Given the description of an element on the screen output the (x, y) to click on. 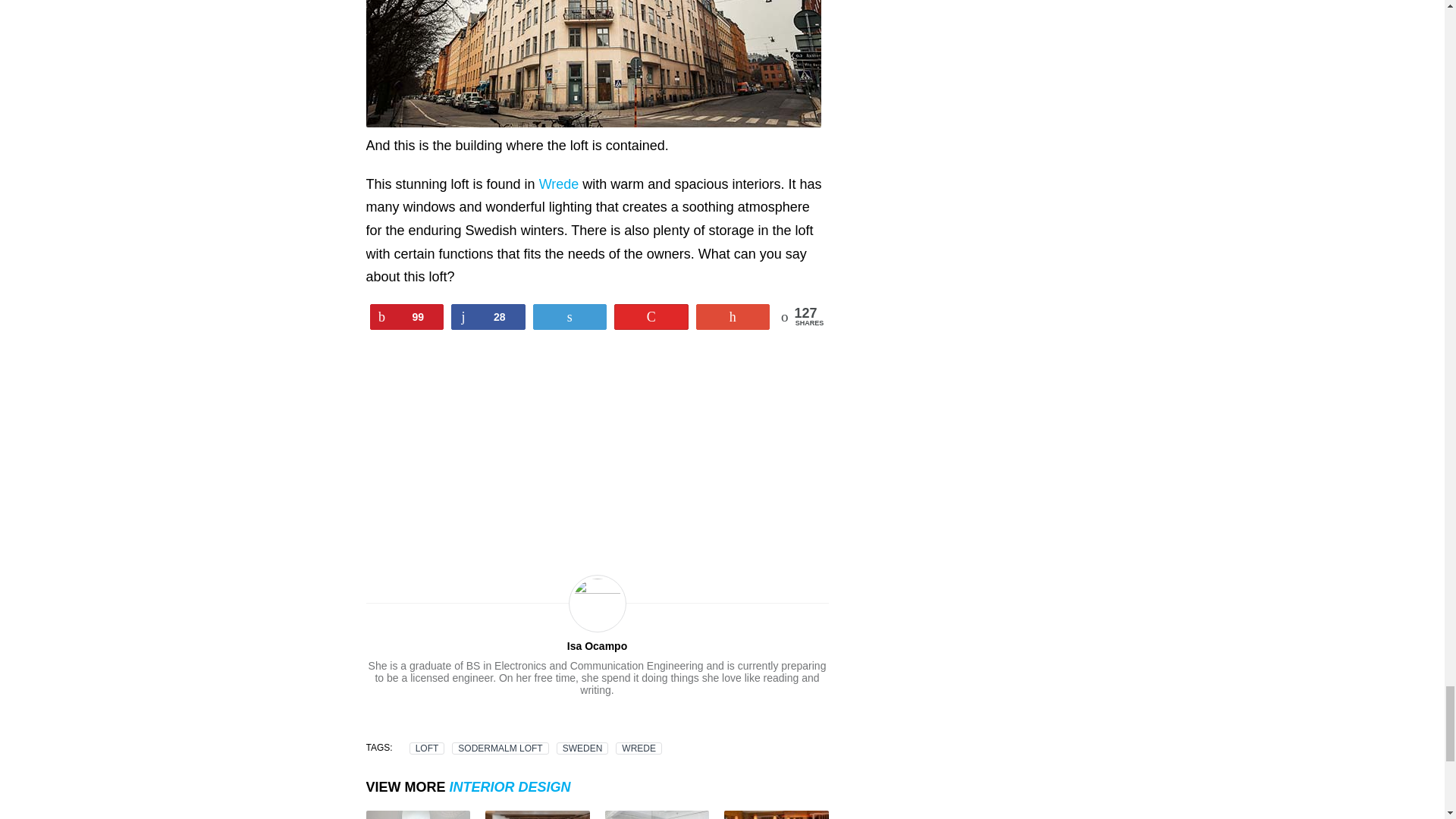
99 (405, 315)
28 (487, 315)
Wrede (558, 183)
